Given the description of an element on the screen output the (x, y) to click on. 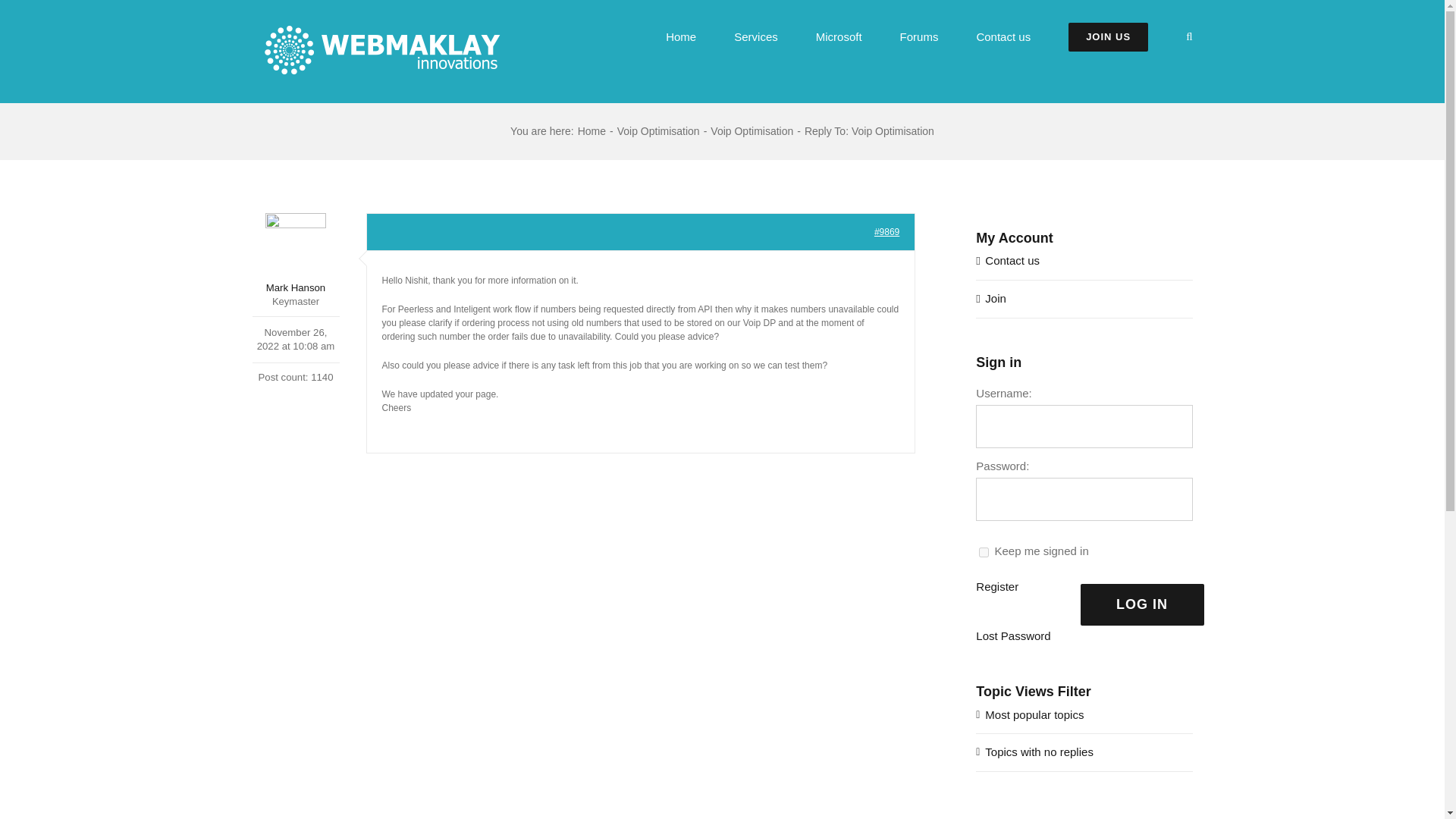
Most popular topics (1034, 714)
Register (996, 587)
Register (996, 587)
Contact us (1012, 259)
Lost Password (1012, 636)
Mark Hanson (295, 253)
Topics with no replies (1039, 751)
LOG IN (1142, 604)
JOIN US (1108, 36)
Voip Optimisation (751, 131)
Join (995, 297)
View Mark Hanson's profile (295, 253)
Home (591, 131)
Voip Optimisation (658, 131)
Lost Password (1012, 636)
